Given the description of an element on the screen output the (x, y) to click on. 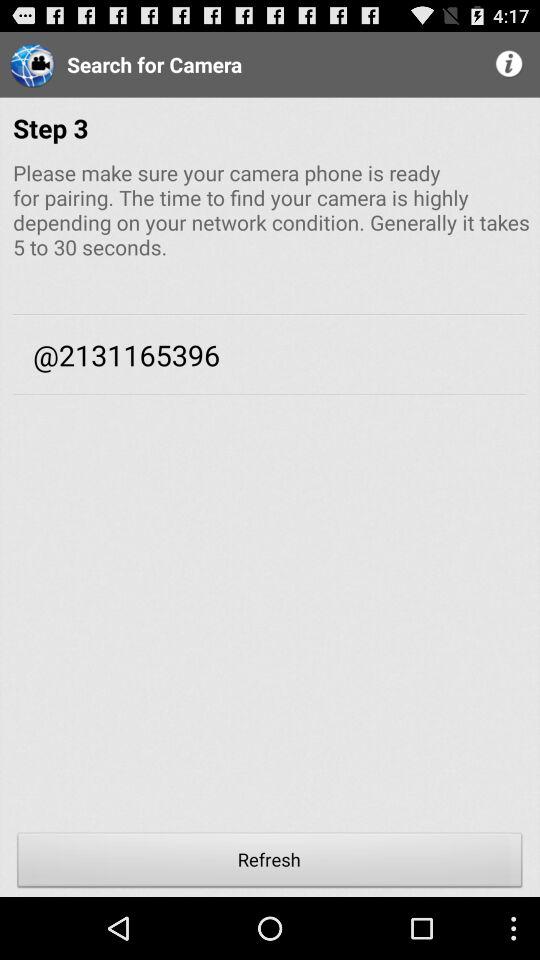
press icon at the bottom (269, 862)
